Given the description of an element on the screen output the (x, y) to click on. 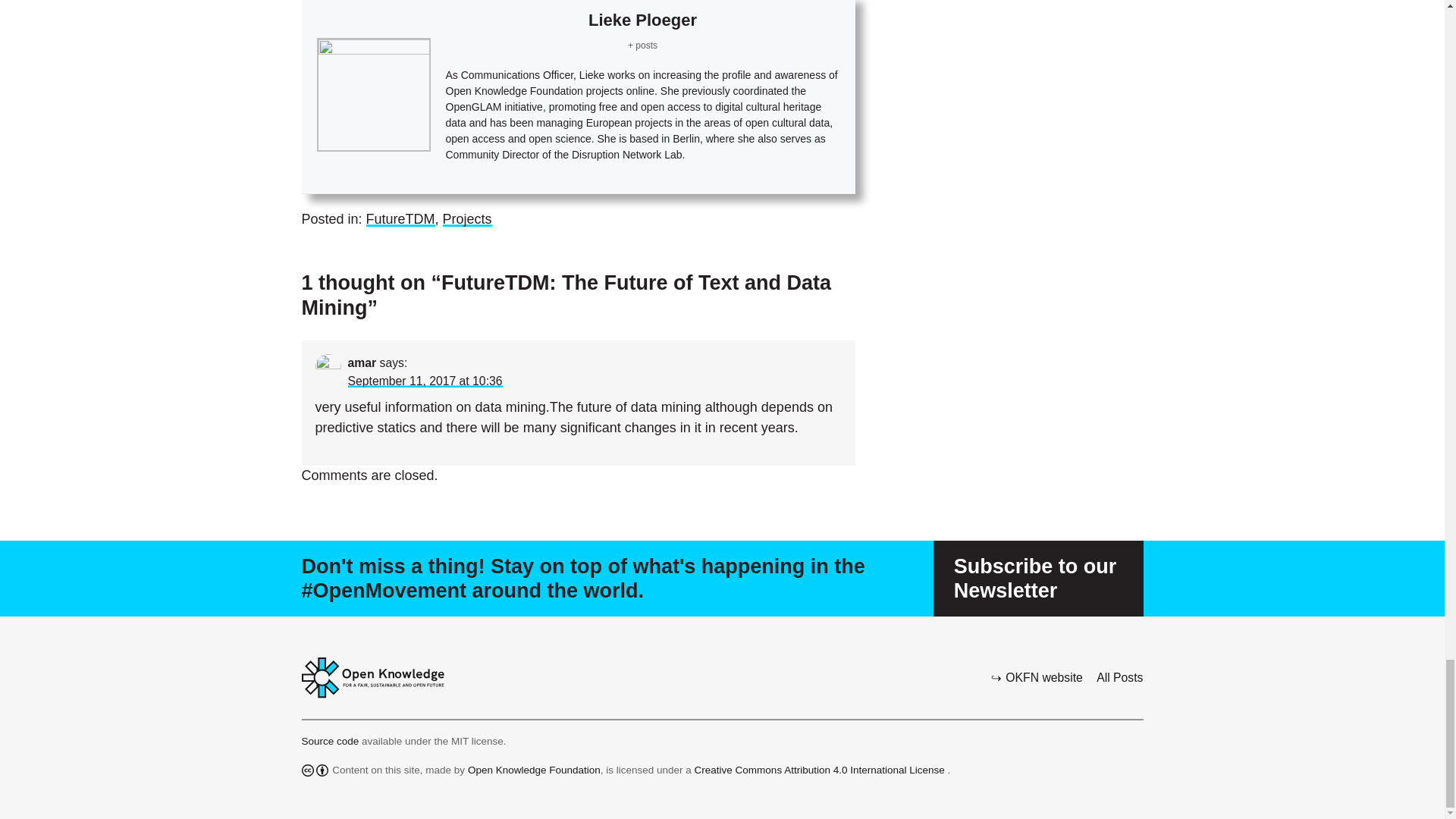
Site source code (331, 740)
by (322, 770)
cc (307, 770)
